Given the description of an element on the screen output the (x, y) to click on. 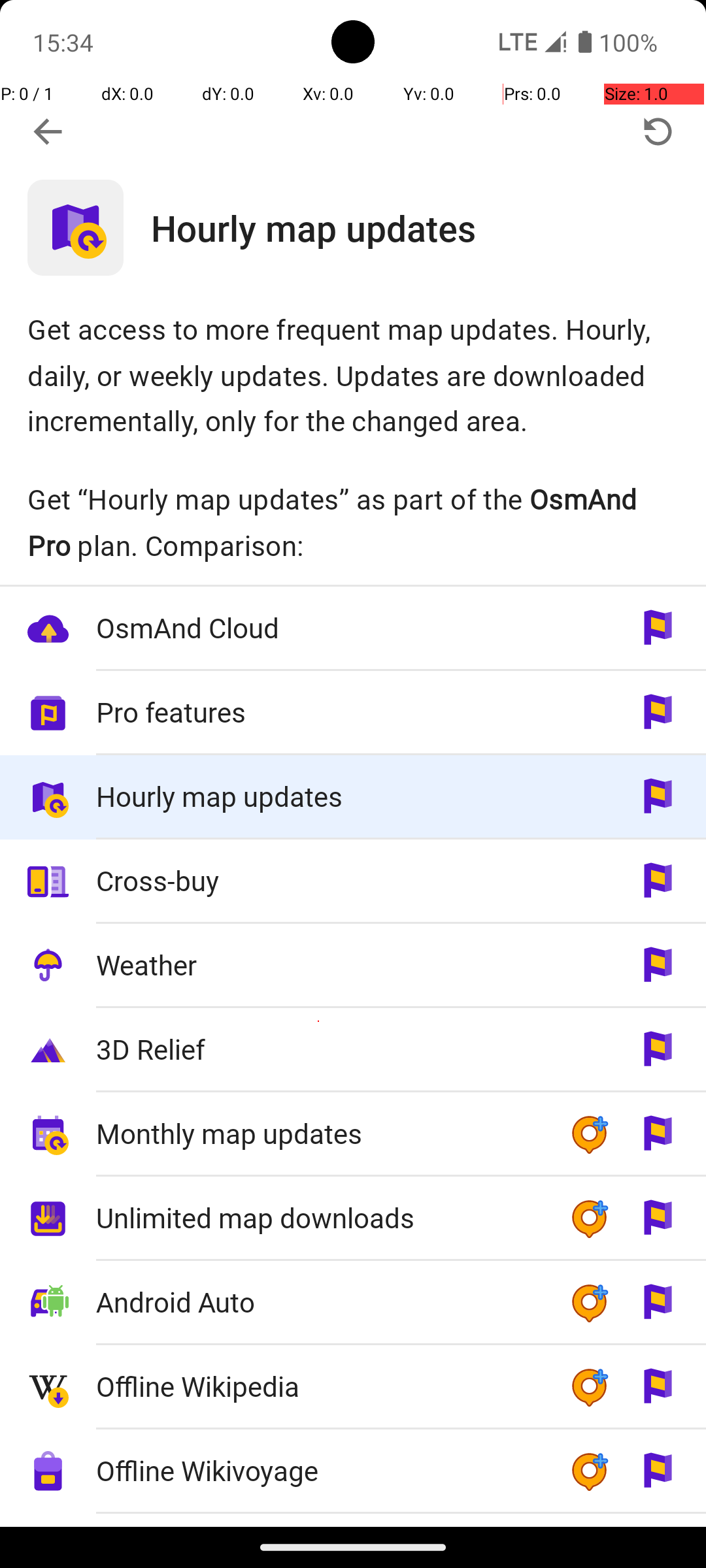
Hourly map updates Element type: android.widget.TextView (428, 227)
Restore purchases Element type: android.widget.ImageButton (657, 131)
Get access to more frequent map updates. Hourly, daily, or weekly updates. Updates are downloaded incrementally, only for the changed area. Element type: android.widget.TextView (353, 374)
Get “Hourly map updates” as part of the OsmAnd Pro plan. Comparison: Element type: android.widget.TextView (353, 521)
OsmAnd Cloud available as part of the OsmAnd Pro plan Element type: android.widget.LinearLayout (353, 628)
Pro features available as part of the OsmAnd Pro plan Element type: android.widget.LinearLayout (353, 712)
Hourly map updates available as part of the OsmAnd Pro plan Element type: android.widget.LinearLayout (353, 797)
Cross-buy available as part of the OsmAnd Pro plan Element type: android.widget.LinearLayout (353, 881)
Weather available as part of the OsmAnd Pro plan Element type: android.widget.LinearLayout (353, 965)
3D Relief available as part of the OsmAnd Pro plan Element type: android.widget.LinearLayout (353, 1050)
Monthly map updates available as part of the OsmAnd+ or OsmAnd Pro plan Element type: android.widget.LinearLayout (353, 1134)
Unlimited map downloads available as part of the OsmAnd+ or OsmAnd Pro plan Element type: android.widget.LinearLayout (353, 1218)
Android Auto available as part of the OsmAnd+ or OsmAnd Pro plan Element type: android.widget.LinearLayout (353, 1302)
Offline Wikipedia available as part of the OsmAnd+ or OsmAnd Pro plan Element type: android.widget.LinearLayout (353, 1387)
Offline Wikivoyage available as part of the OsmAnd+ or OsmAnd Pro plan Element type: android.widget.LinearLayout (353, 1471)
External sensors support available as part of the OsmAnd+ or OsmAnd Pro plan Element type: android.widget.LinearLayout (353, 1519)
OsmAnd Cloud Element type: android.widget.TextView (318, 627)
Pro features Element type: android.widget.TextView (318, 711)
Cross-buy Element type: android.widget.TextView (318, 879)
Weather Element type: android.widget.TextView (318, 964)
3D Relief Element type: android.widget.TextView (318, 1048)
Monthly map updates Element type: android.widget.TextView (318, 1132)
Unlimited map downloads Element type: android.widget.TextView (318, 1217)
Android Auto Element type: android.widget.TextView (318, 1301)
Offline Wikipedia Element type: android.widget.TextView (318, 1385)
Offline Wikivoyage Element type: android.widget.TextView (318, 1469)
External sensors support Element type: android.widget.TextView (318, 1520)
